Given the description of an element on the screen output the (x, y) to click on. 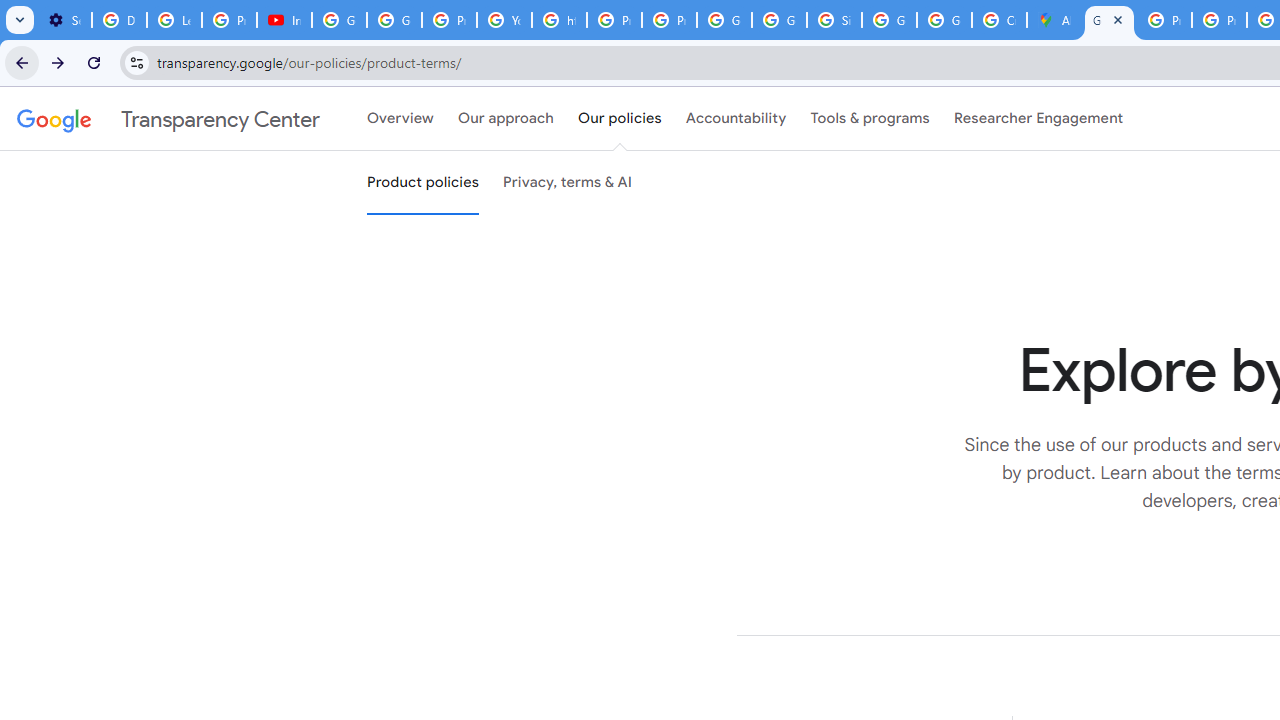
Product policies (422, 183)
Privacy Help Center - Policies Help (1163, 20)
Google Account Help (394, 20)
Learn how to find your photos - Google Photos Help (174, 20)
Privacy Help Center - Policies Help (1218, 20)
Privacy, terms & AI (568, 183)
Privacy Help Center - Policies Help (614, 20)
Sign in - Google Accounts (833, 20)
Our approach (506, 119)
https://scholar.google.com/ (559, 20)
